Given the description of an element on the screen output the (x, y) to click on. 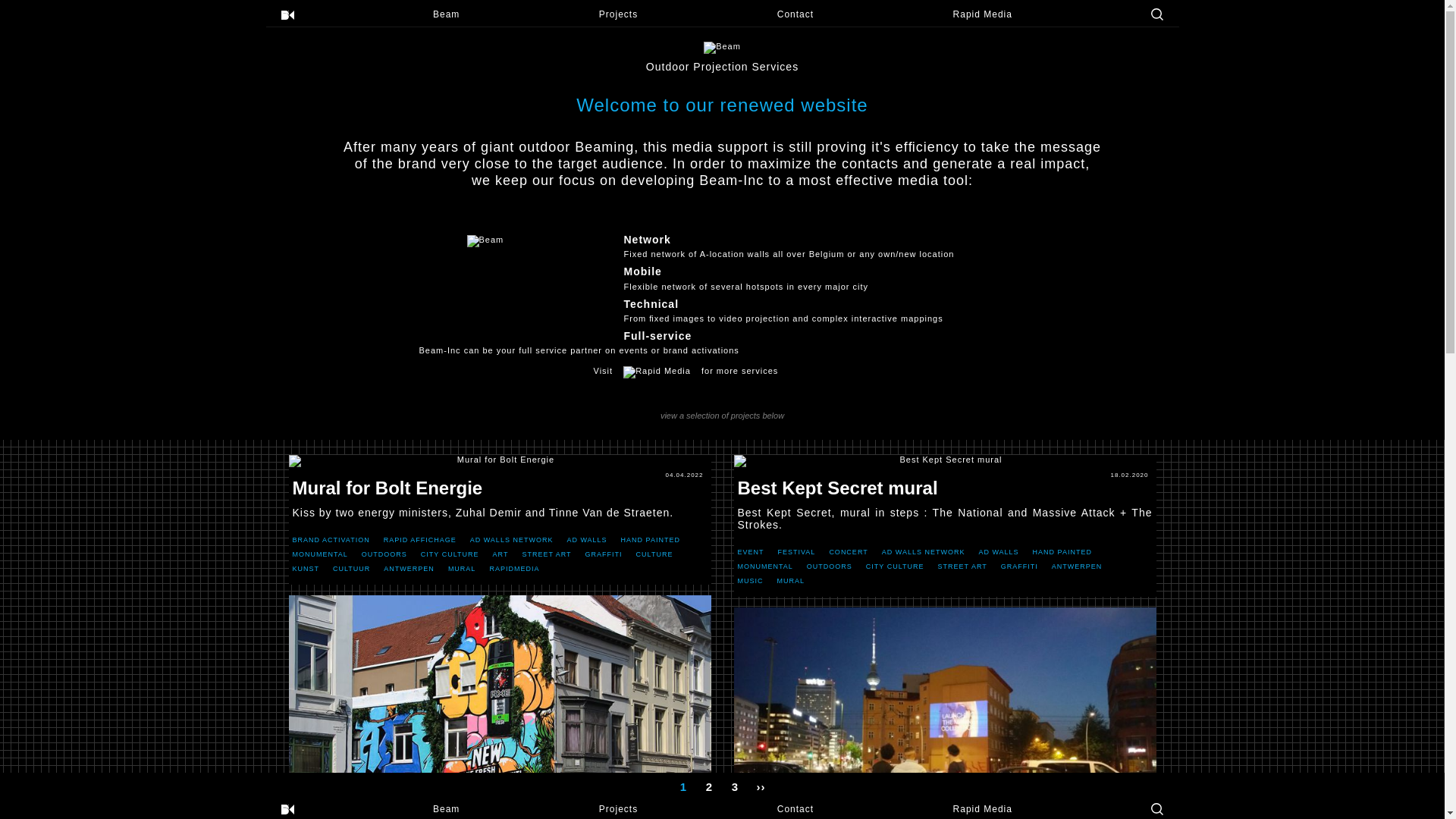
KUNST Element type: text (306, 568)
CITY CULTURE Element type: text (895, 566)
HAND PAINTED Element type: text (650, 539)
AD WALLS NETWORK Element type: text (511, 539)
ANTWERPEN Element type: text (408, 568)
CONCERT Element type: text (847, 551)
MURAL Element type: text (462, 568)
Projects Element type: text (618, 808)
EVENT Element type: text (750, 551)
AD WALLS Element type: text (586, 539)
Best Kept Secret mural Element type: hover (945, 461)
Projects Element type: text (618, 14)
MONUMENTAL Element type: text (320, 554)
2 Element type: text (708, 783)
Contact Element type: text (795, 808)
CITY CULTURE Element type: text (449, 554)
ART Element type: text (500, 554)
Rapid Media Element type: text (982, 808)
AD WALLS Element type: text (998, 551)
BRAND ACTIVATION Element type: text (331, 539)
STREET ART Element type: text (962, 566)
STREET ART Element type: text (546, 554)
CULTURE Element type: text (654, 554)
3 Element type: text (734, 783)
MURAL Element type: text (790, 580)
GRAFFITI Element type: text (603, 554)
ANTWERPEN Element type: text (1076, 566)
Contact Element type: text (795, 14)
Mural for Bolt Energie Element type: hover (499, 461)
Beam Element type: text (446, 14)
GRAFFITI Element type: text (1019, 566)
RAPIDMEDIA Element type: text (514, 568)
MUSIC Element type: text (749, 580)
OUTDOORS Element type: text (829, 566)
Rapid Media Element type: text (982, 14)
CULTUUR Element type: text (351, 568)
HAND PAINTED Element type: text (1062, 551)
FESTIVAL Element type: text (796, 551)
RAPID AFFICHAGE Element type: text (419, 539)
view a selection of projects below Element type: text (721, 410)
OUTDOORS Element type: text (384, 554)
AD WALLS NETWORK Element type: text (923, 551)
Beam Element type: text (446, 808)
MONUMENTAL Element type: text (764, 566)
